Given the description of an element on the screen output the (x, y) to click on. 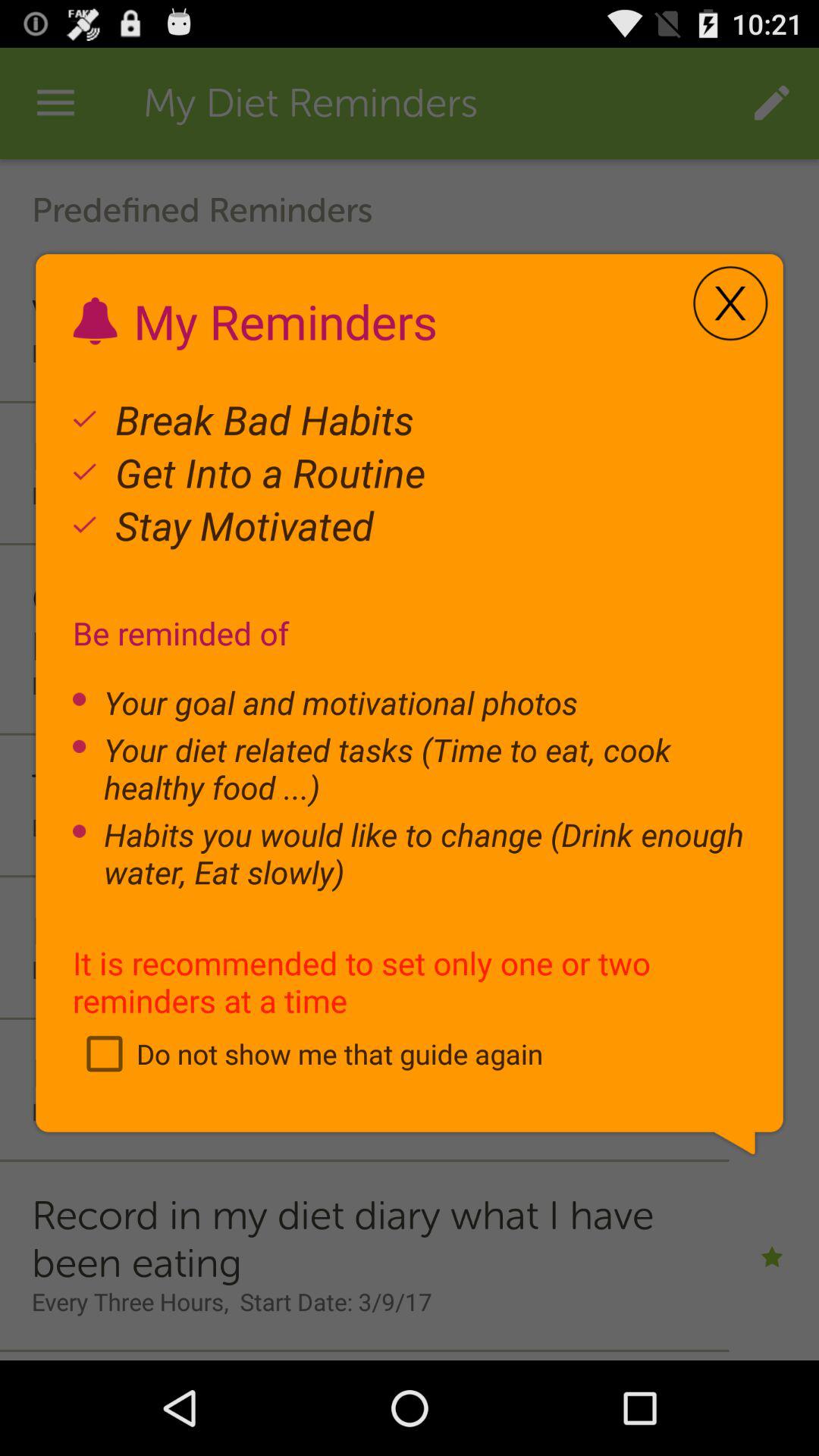
choose item at the top right corner (730, 303)
